Given the description of an element on the screen output the (x, y) to click on. 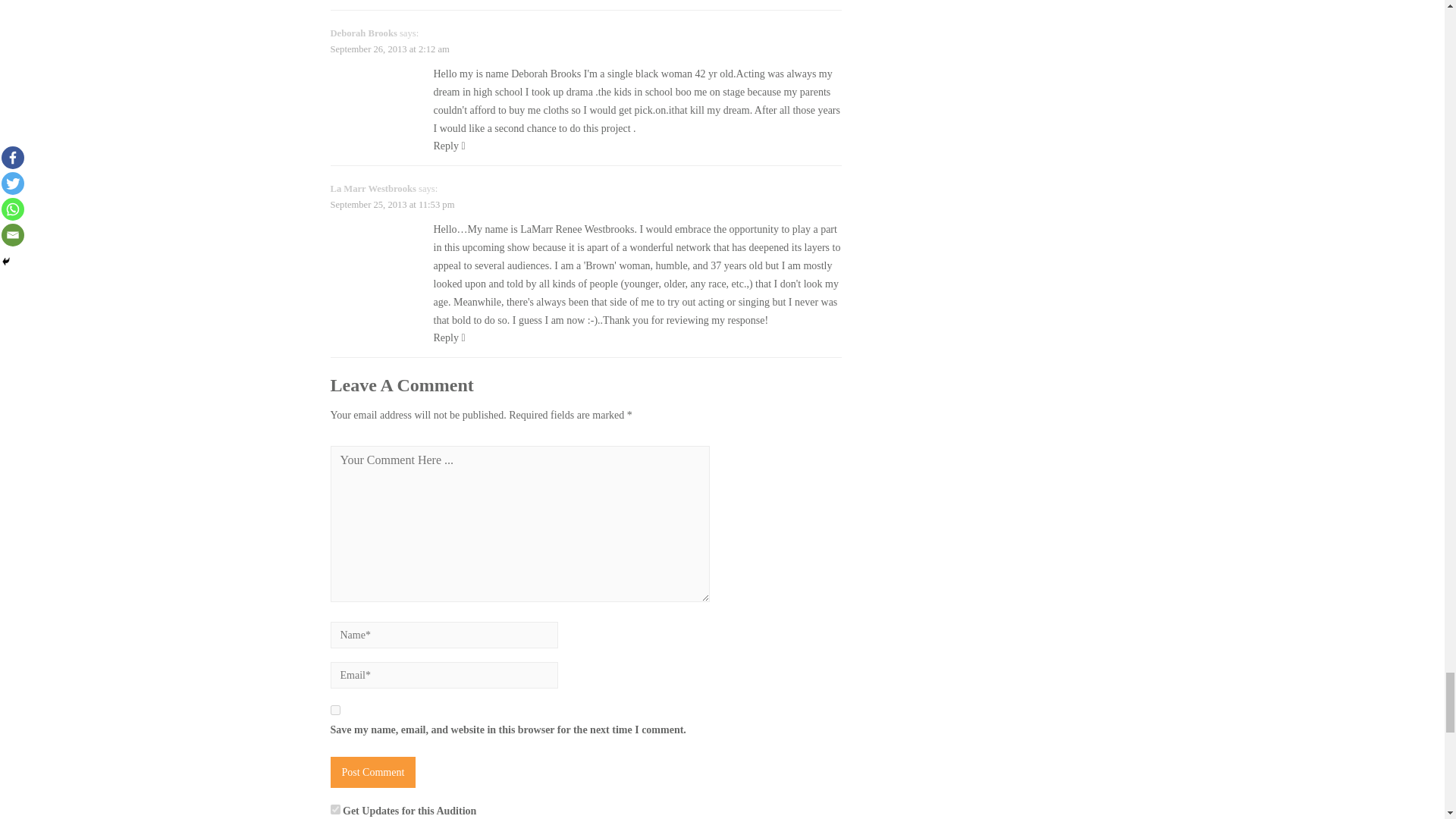
Post Comment (373, 771)
1 (335, 809)
yes (335, 709)
